Given the description of an element on the screen output the (x, y) to click on. 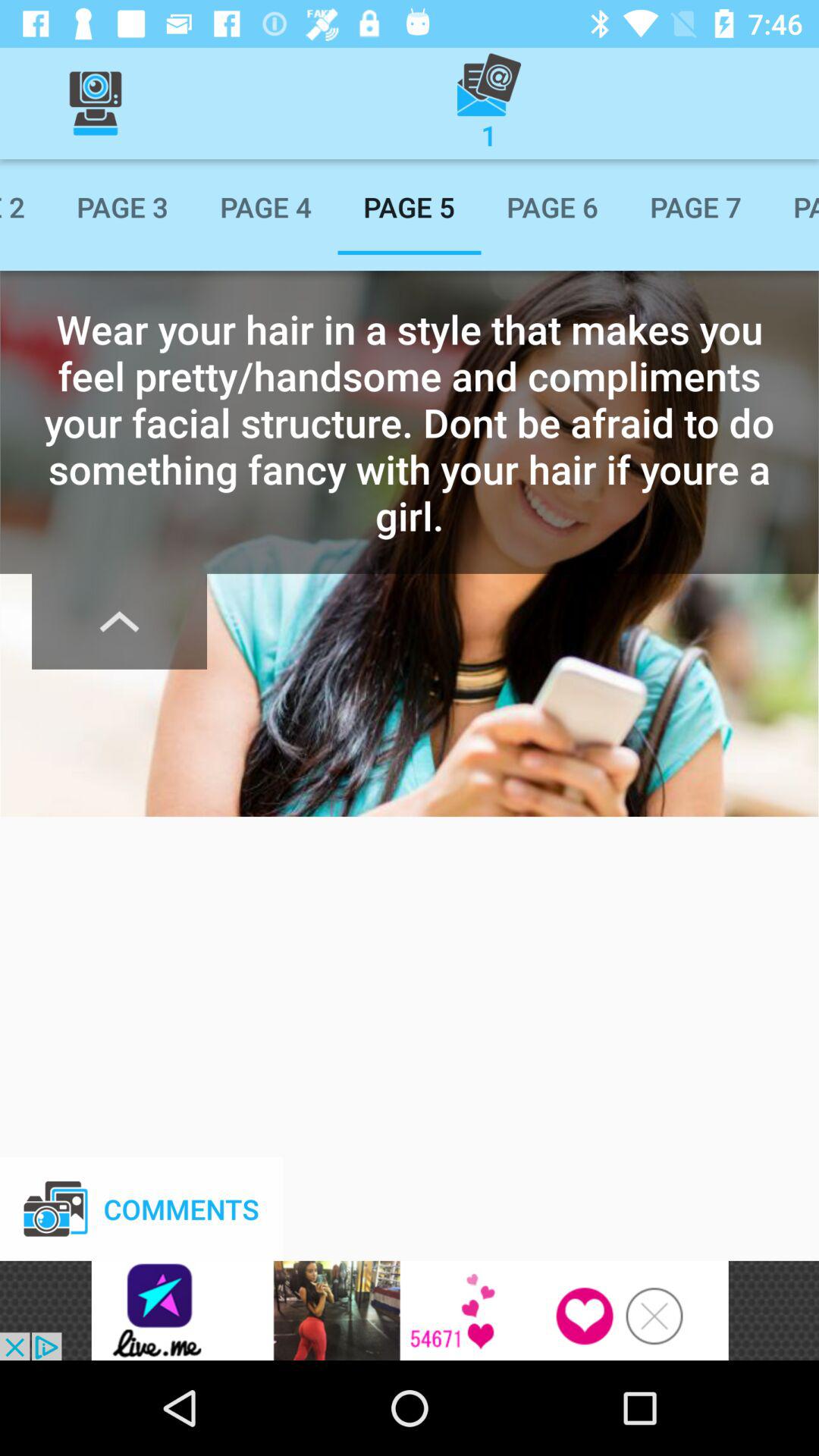
move up (119, 621)
